Given the description of an element on the screen output the (x, y) to click on. 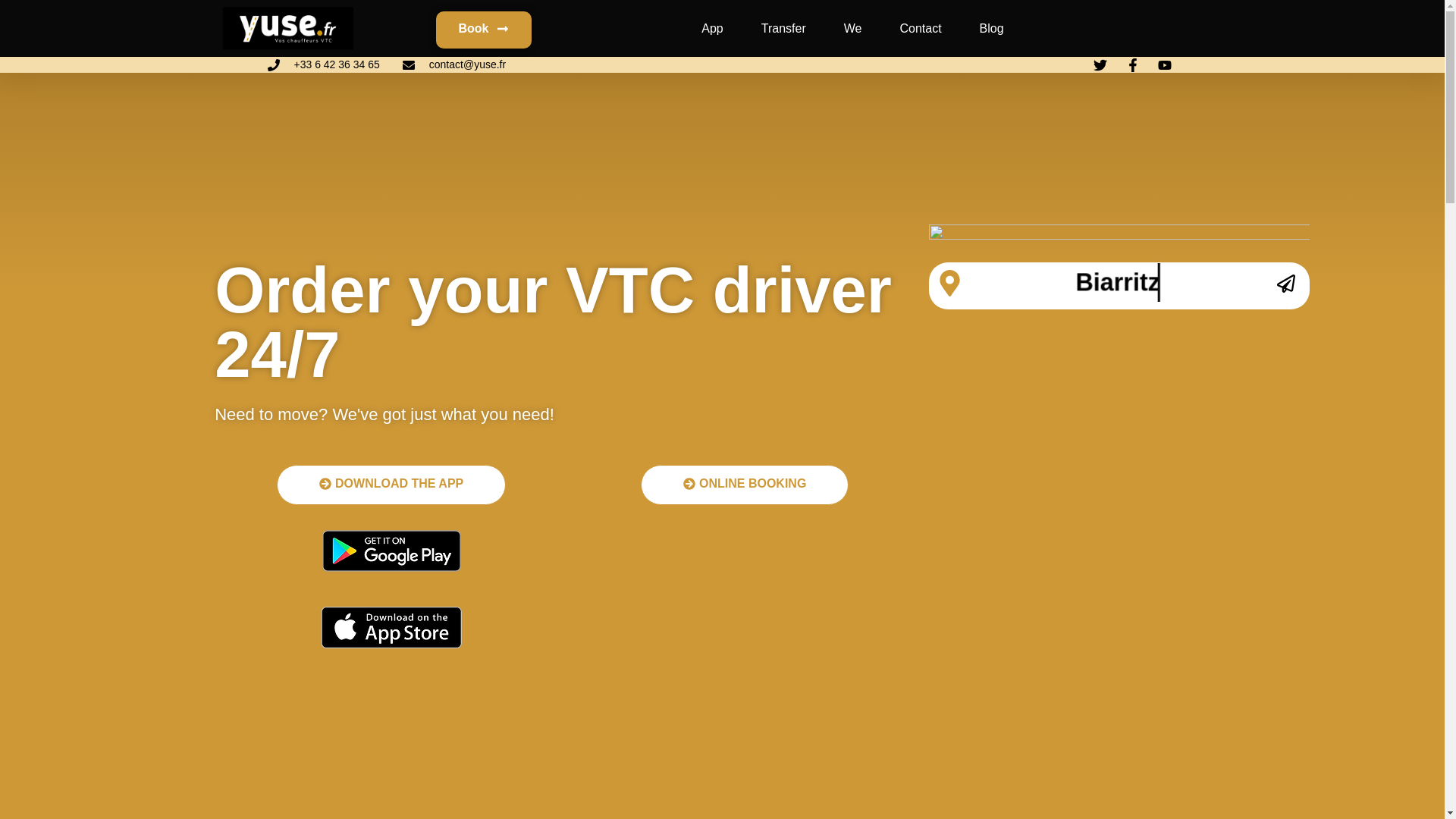
Book (483, 29)
Transfer (783, 28)
Contact (919, 28)
